Given the description of an element on the screen output the (x, y) to click on. 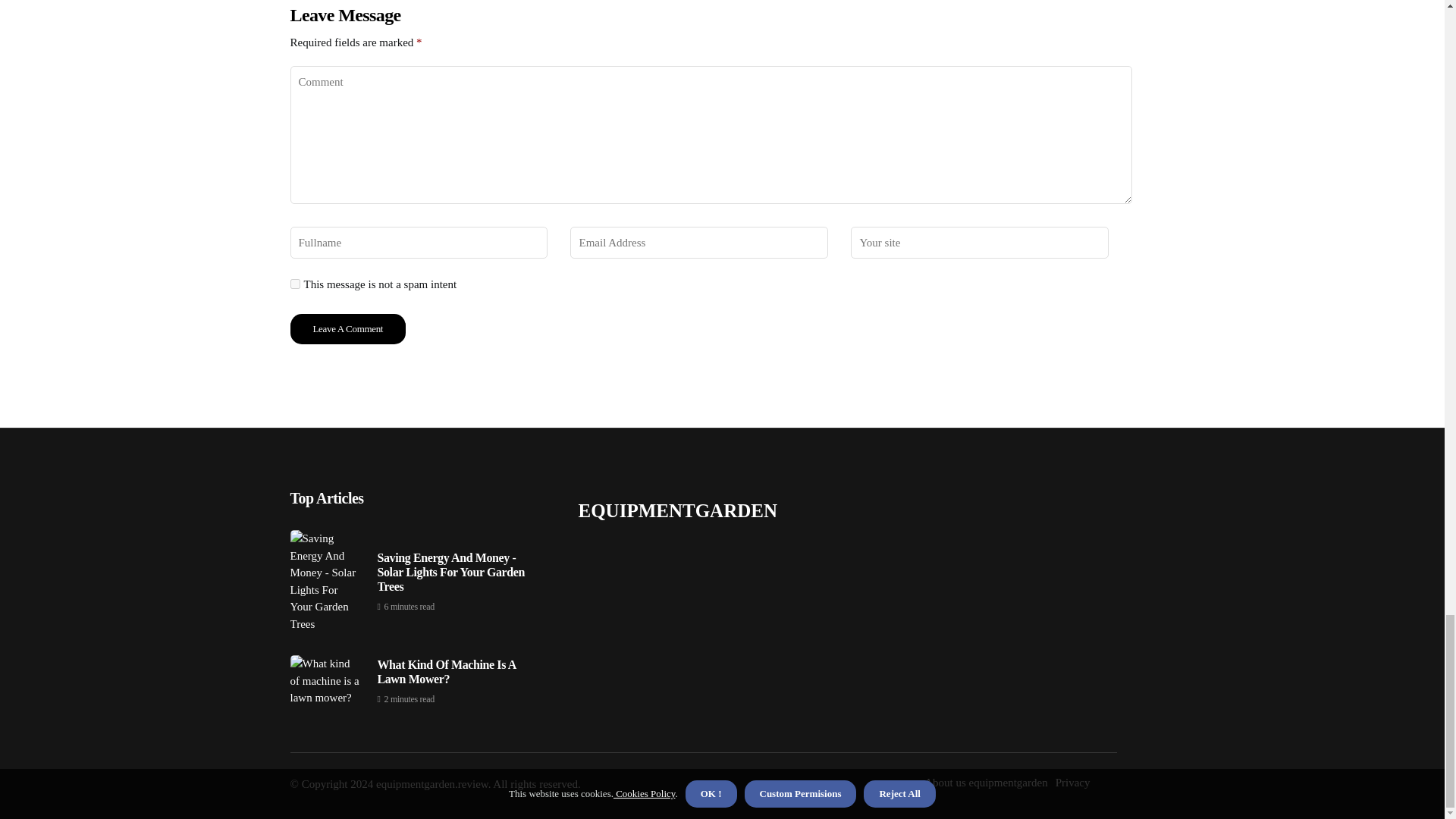
Leave a Comment (347, 328)
Leave a Comment (347, 328)
yes (294, 284)
